Given the description of an element on the screen output the (x, y) to click on. 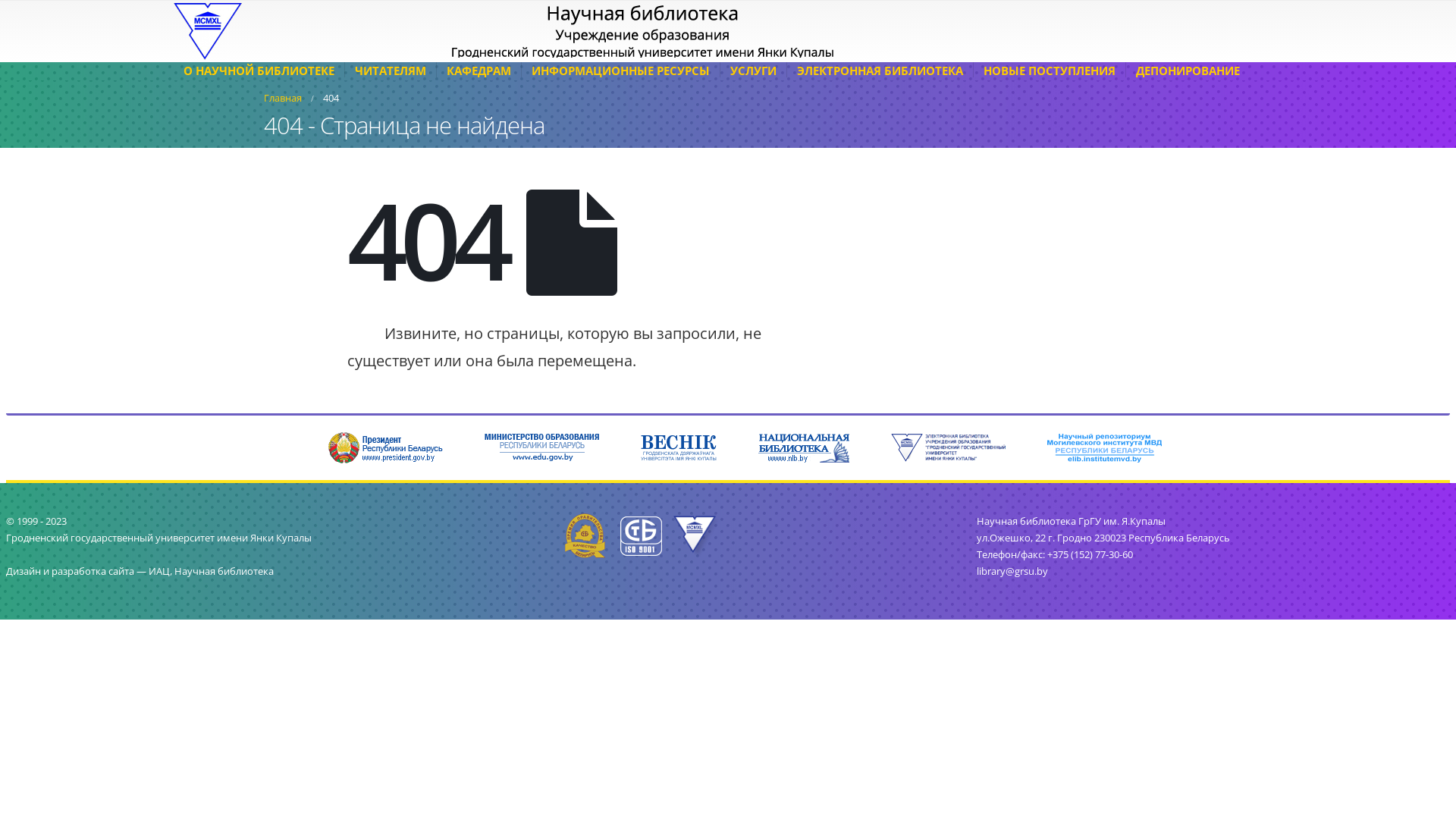
    Element type: text (645, 534)
library@grsu.by Element type: text (1012, 570)
